Given the description of an element on the screen output the (x, y) to click on. 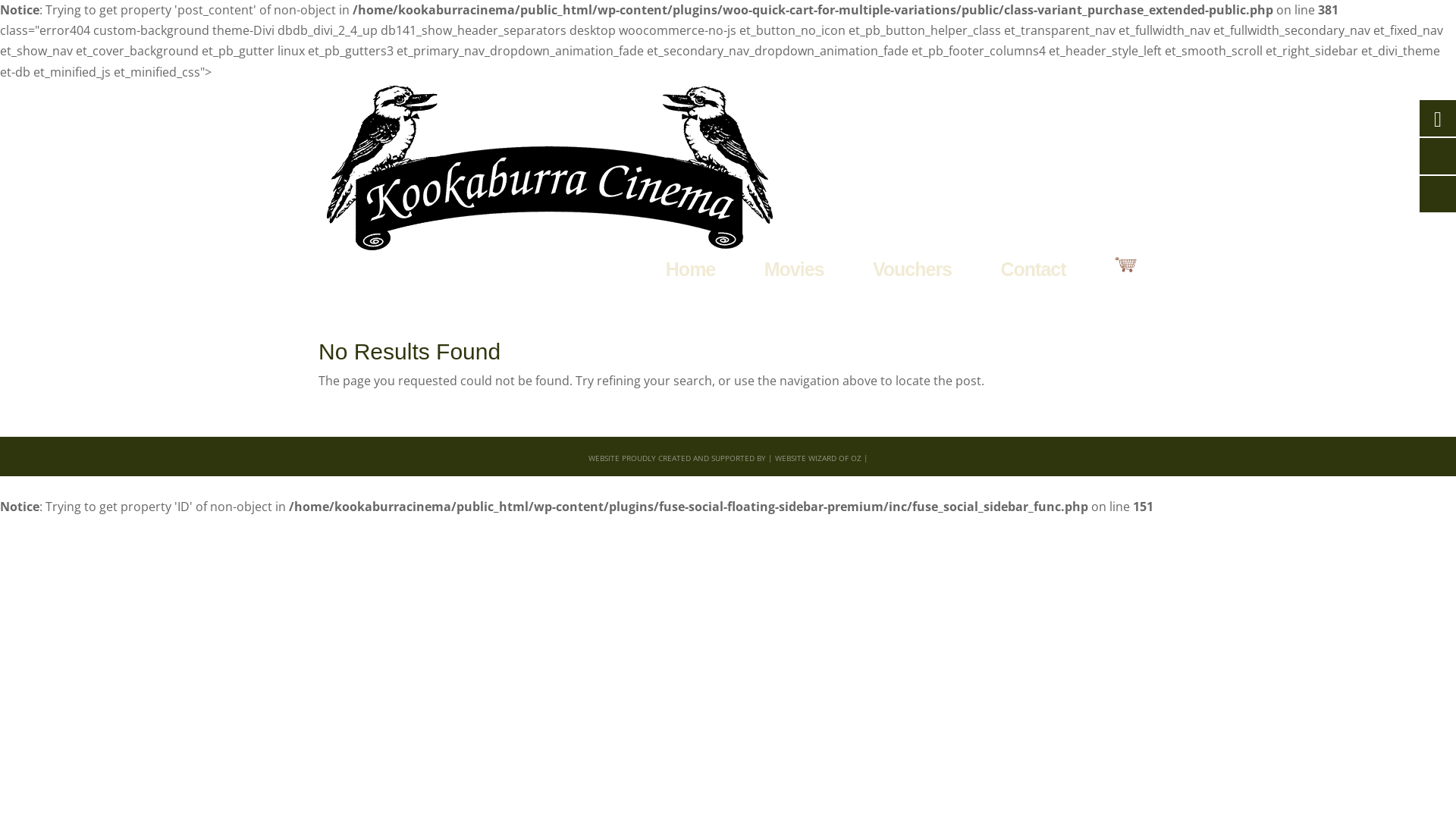
WEBSITE WIZARD OF OZ Element type: text (818, 457)
Home Element type: text (690, 269)
Vouchers Element type: text (911, 269)
Contact Element type: text (1032, 269)
Movies Element type: text (794, 269)
